Given the description of an element on the screen output the (x, y) to click on. 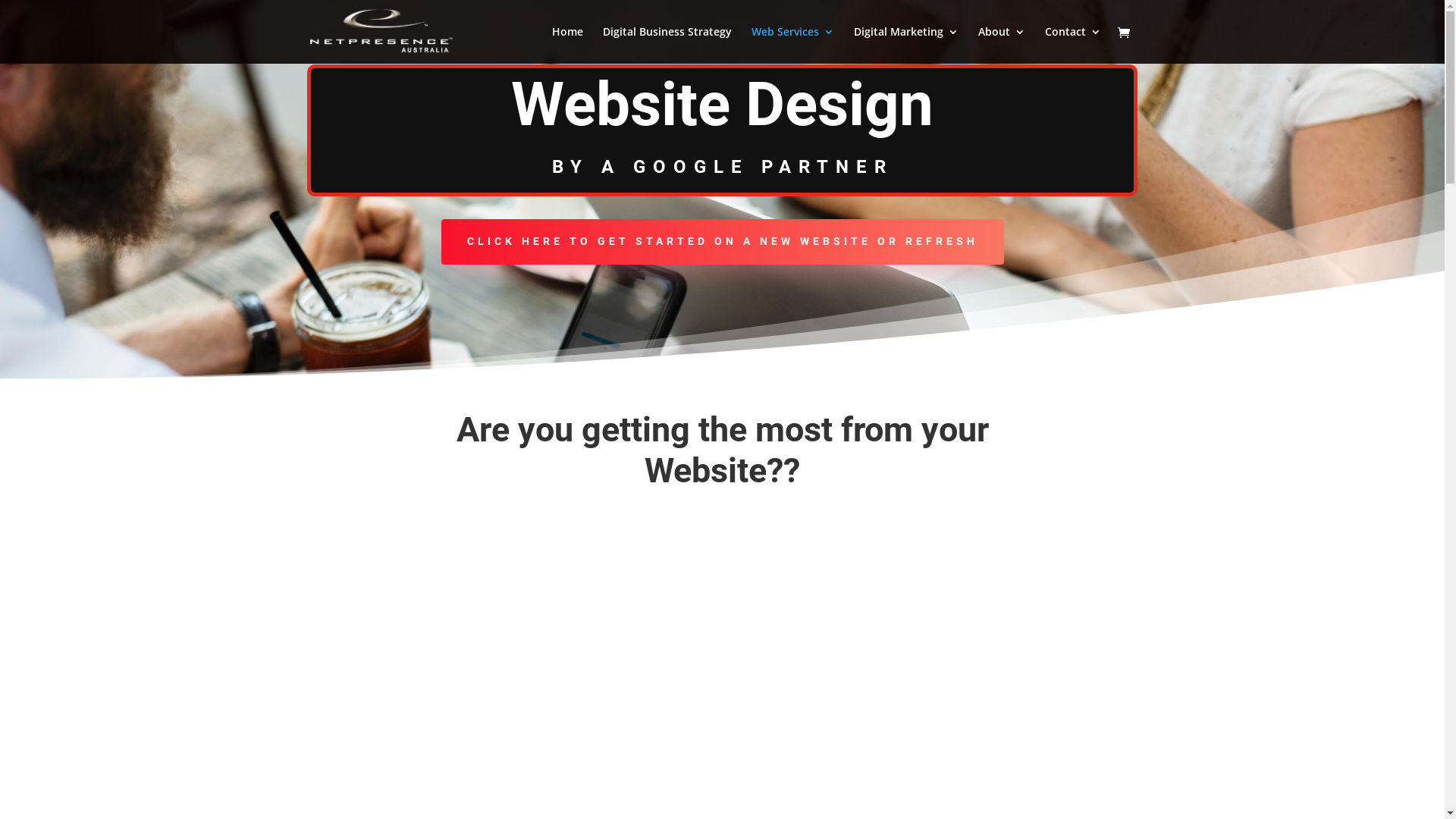
Digital Business Strategy Element type: text (666, 44)
Contact Element type: text (1072, 44)
Digital Marketing Element type: text (905, 44)
Web Services Element type: text (792, 44)
CLICK HERE TO GET STARTED ON A NEW WEBSITE OR REFRESH Element type: text (722, 241)
About Element type: text (1001, 44)
Home Element type: text (567, 44)
